Given the description of an element on the screen output the (x, y) to click on. 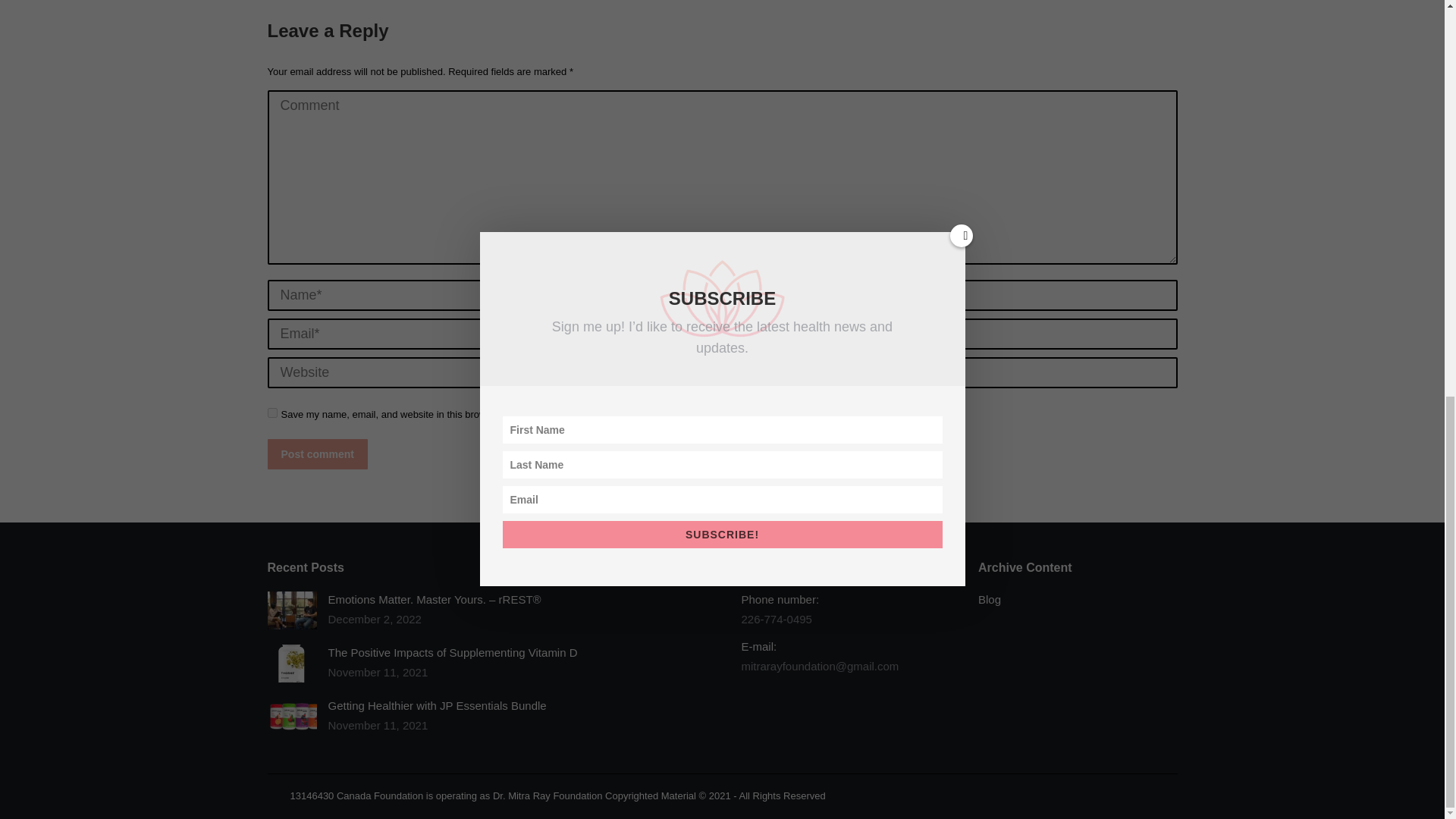
yes (271, 412)
